Given the description of an element on the screen output the (x, y) to click on. 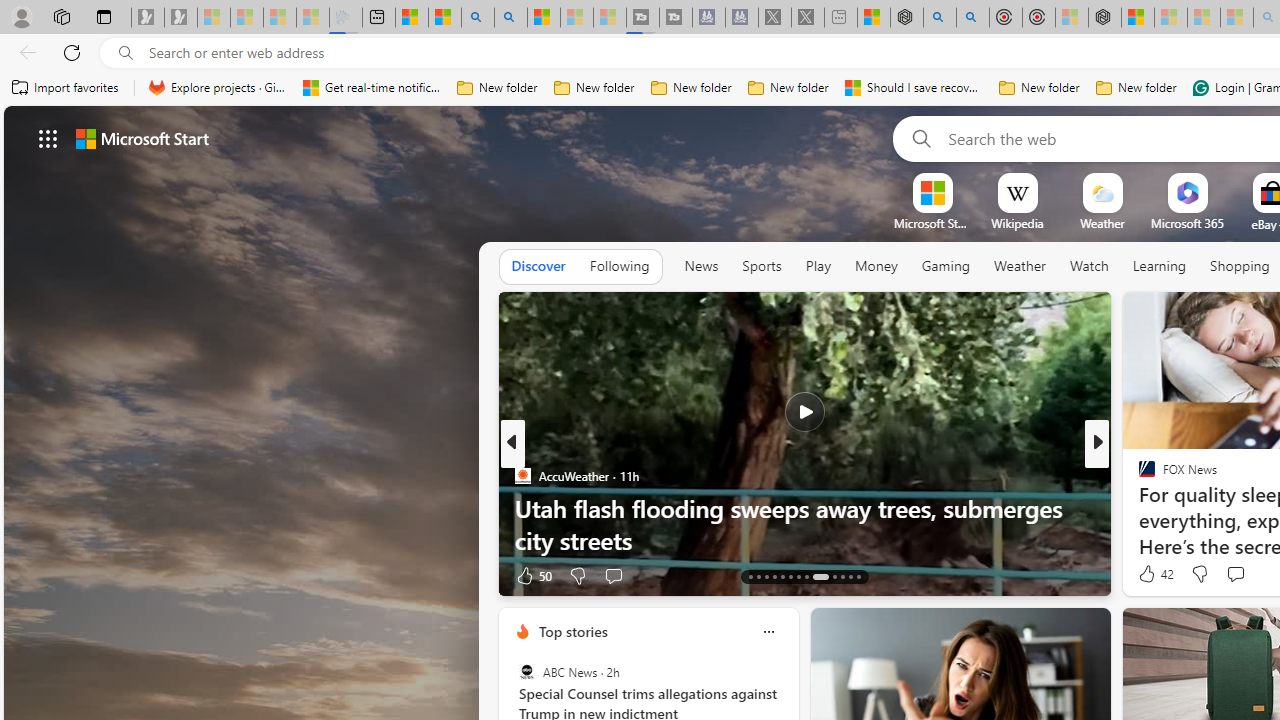
AutomationID: tab-18 (789, 576)
Dislike (1199, 574)
View comments 124 Comment (1247, 574)
Gaming (945, 267)
Class: control (47, 138)
AutomationID: tab-17 (782, 576)
Watch (1089, 265)
Nordace - Nordace Siena Is Not An Ordinary Backpack (1105, 17)
AutomationID: tab-20 (806, 576)
AutomationID: tab-21 (820, 576)
News (701, 265)
